Given the description of an element on the screen output the (x, y) to click on. 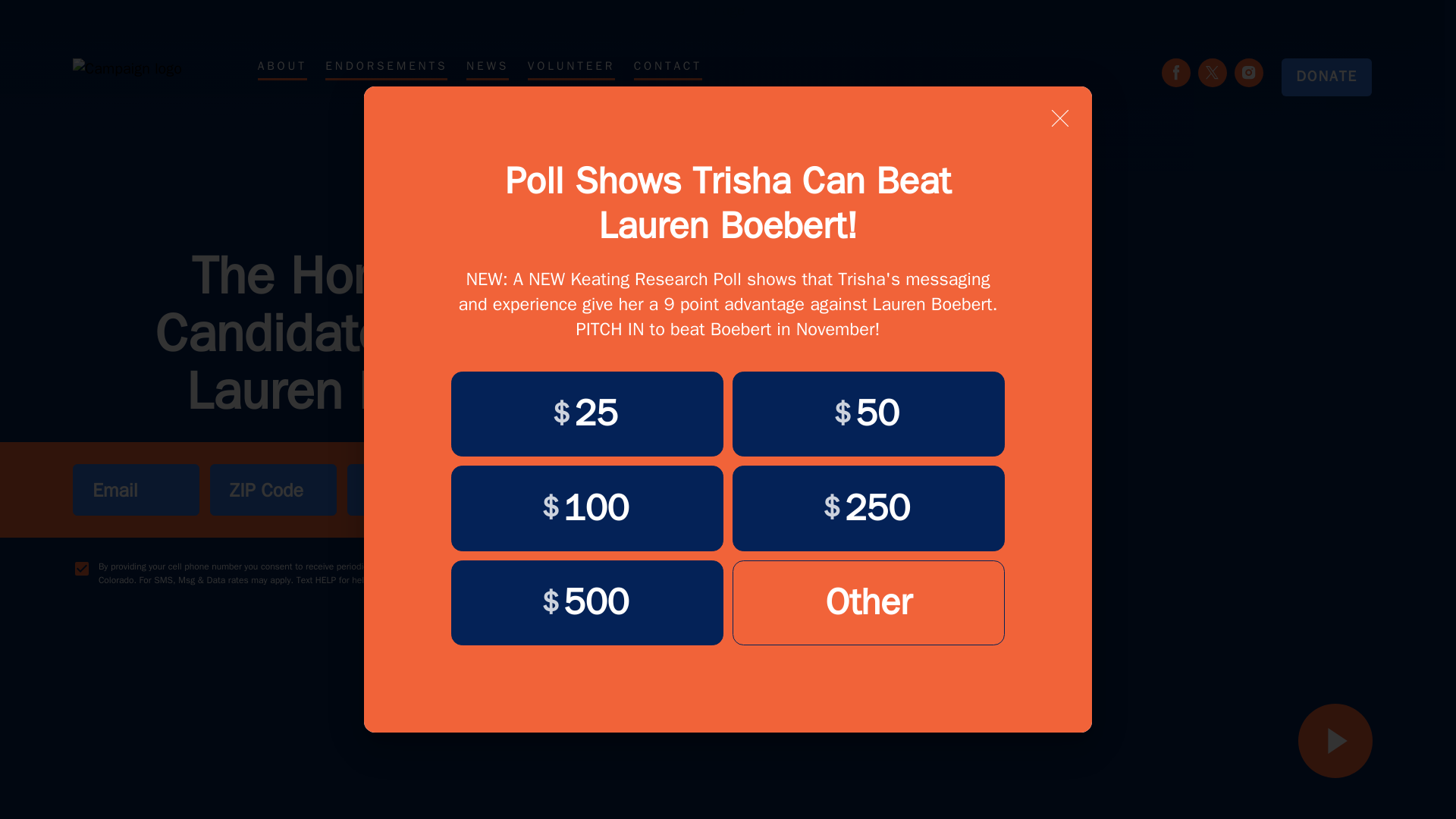
ABOUT (282, 69)
DONATE (1326, 77)
DONATE (1317, 77)
SUBMIT (552, 489)
ENDORSEMENTS (385, 69)
VOLUNTEER (570, 69)
NEWS (486, 69)
CONTACT (667, 69)
